Given the description of an element on the screen output the (x, y) to click on. 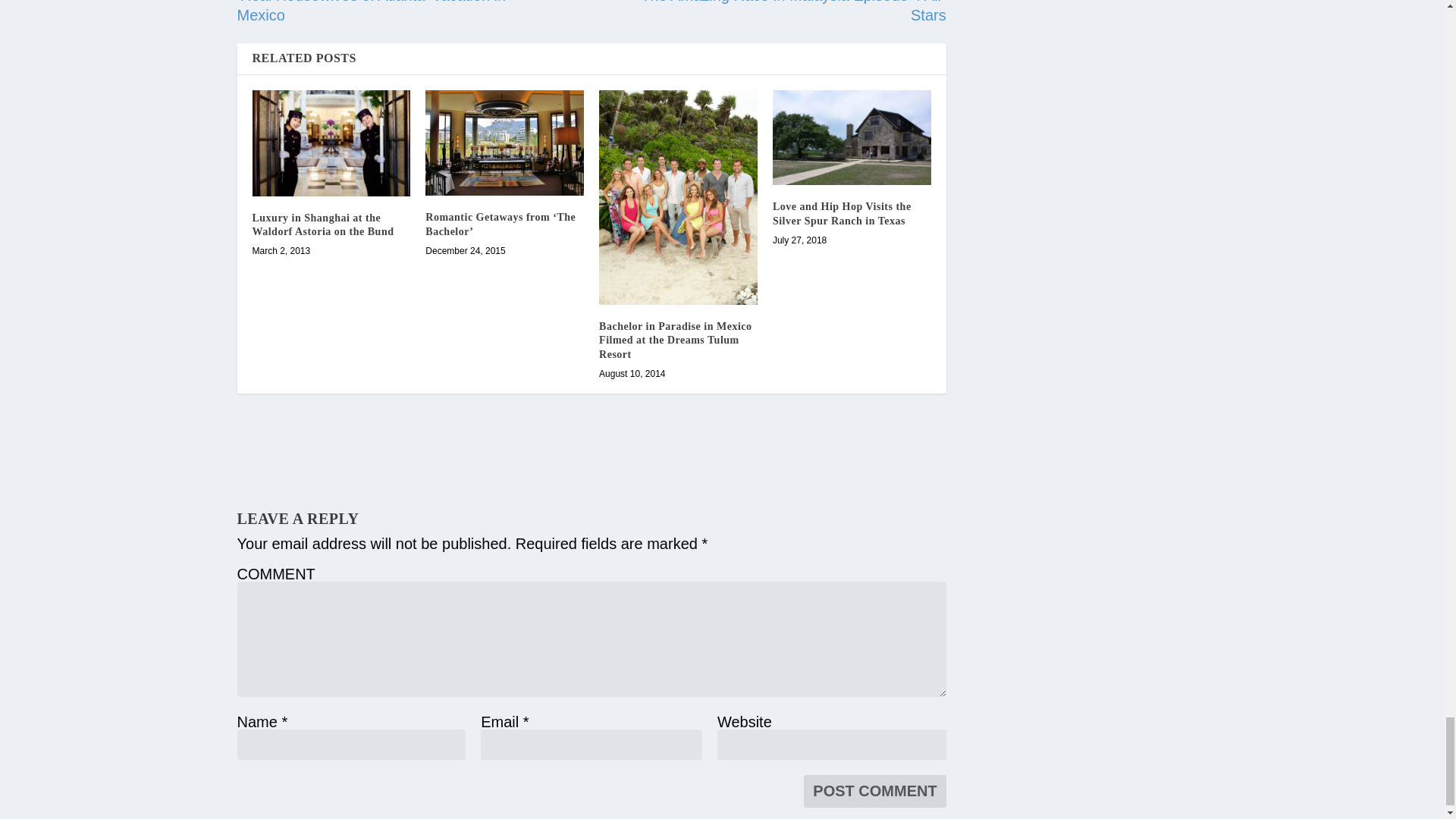
Post Comment (873, 790)
